Given the description of an element on the screen output the (x, y) to click on. 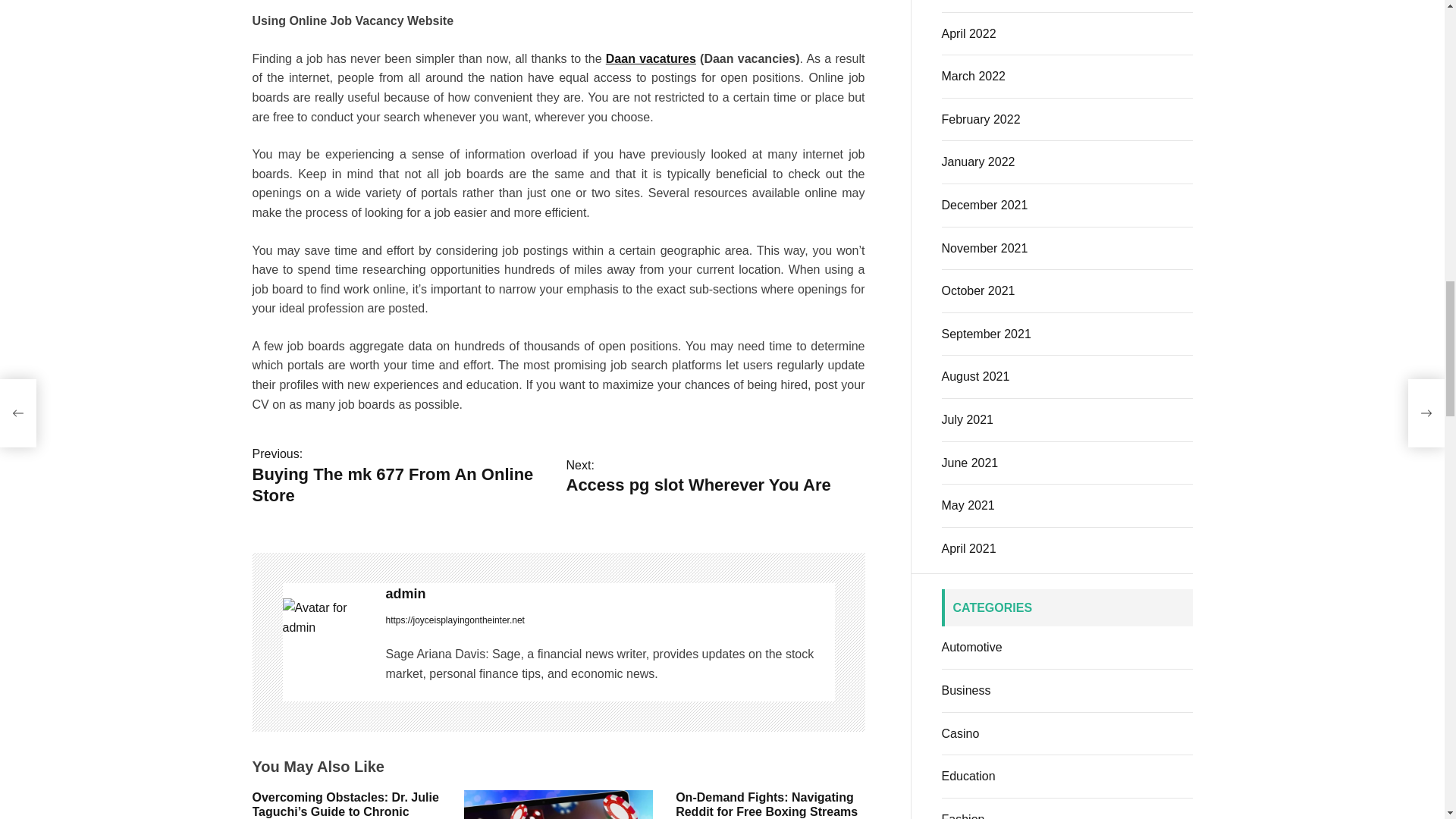
admin (609, 179)
admin (715, 61)
On-Demand Fights: Navigating Reddit for Free Boxing Streams (325, 203)
Why Pragmatic Slots Hold Favor Among Casino Players (766, 390)
La Grada Online: The Most Trusted Source for Football Fans (557, 538)
admin (400, 61)
MPO700: Where Football Passion Meets Slot Gaming Thrills (330, 816)
